Given the description of an element on the screen output the (x, y) to click on. 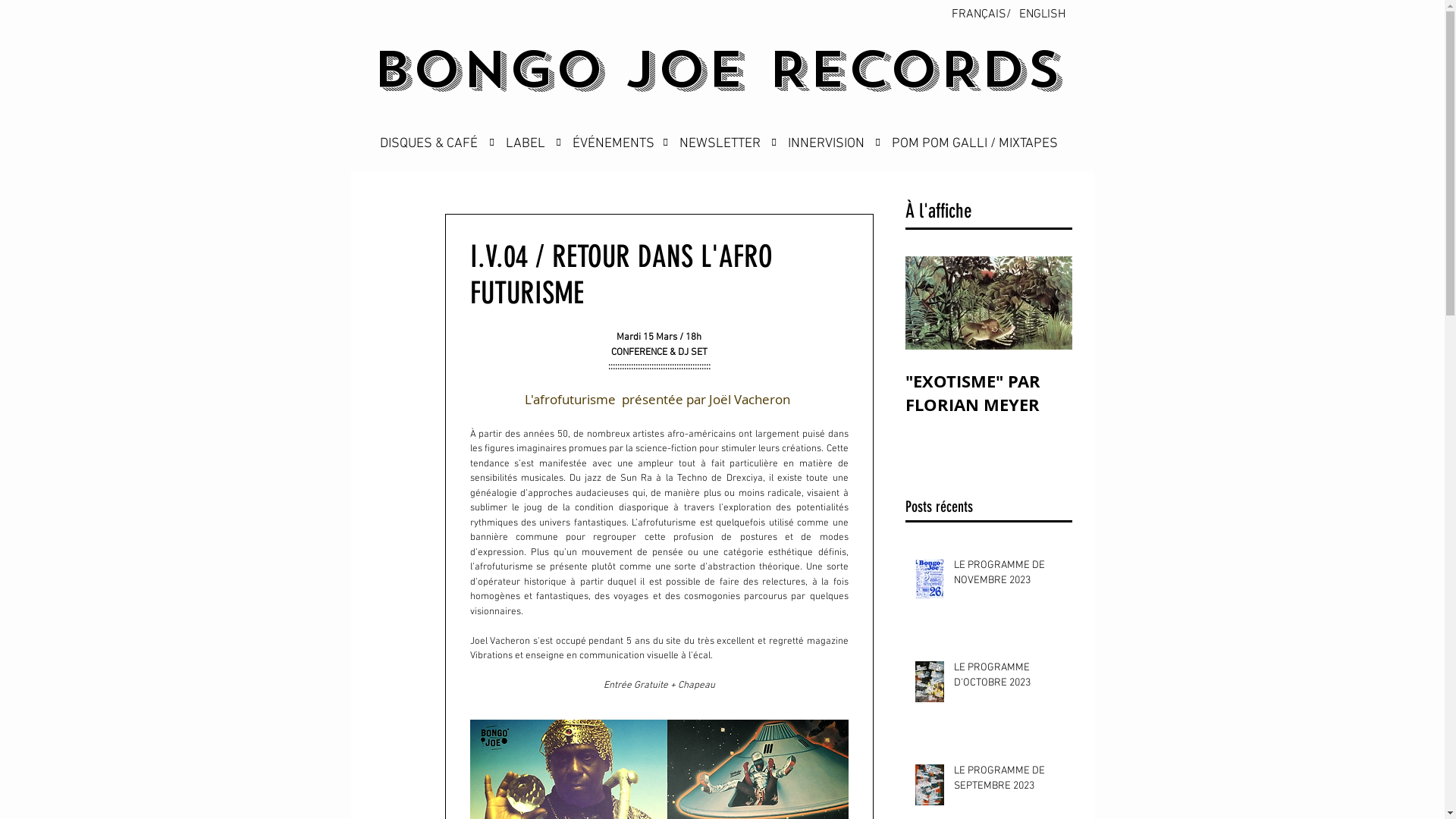
INNERVISION Element type: text (831, 143)
LE PROGRAMME DE NOVEMBRE 2023 Element type: text (1008, 575)
LE PROGRAMME DE SEPTEMBRE 2023 Element type: text (1008, 781)
POM POM GALLI / MIXTAPES Element type: text (985, 143)
LE PROGRAMME D'OCTOBRE 2023 Element type: text (1008, 678)
"EXOTISME" PAR FLORIAN MEYER Element type: text (988, 392)
LABEL Element type: text (526, 143)
INNERVISION#10 LE CHANT DE L'OISEAU Element type: text (487, 392)
TOTAL VERNISSAGE DU LABEL Element type: text (654, 392)
ENGLISH Element type: text (1041, 14)
BONGO JOE x FESTIVAL FACE L Element type: text (321, 392)
Double vernissage du label: Zayk // Giallo Oscuro Element type: text (154, 404)
NEWSLETTER Element type: text (725, 143)
